Given the description of an element on the screen output the (x, y) to click on. 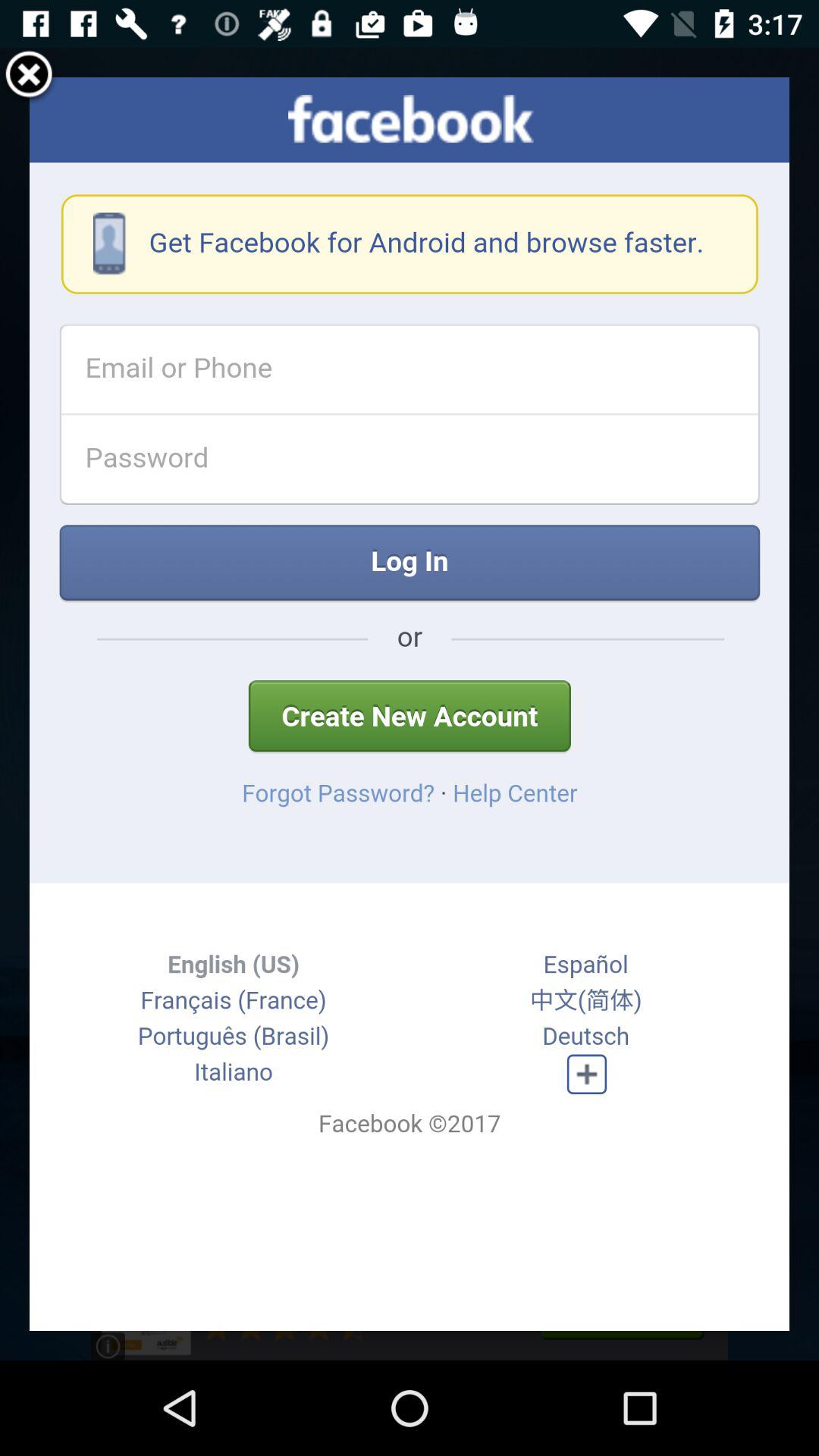
login screen (409, 703)
